Given the description of an element on the screen output the (x, y) to click on. 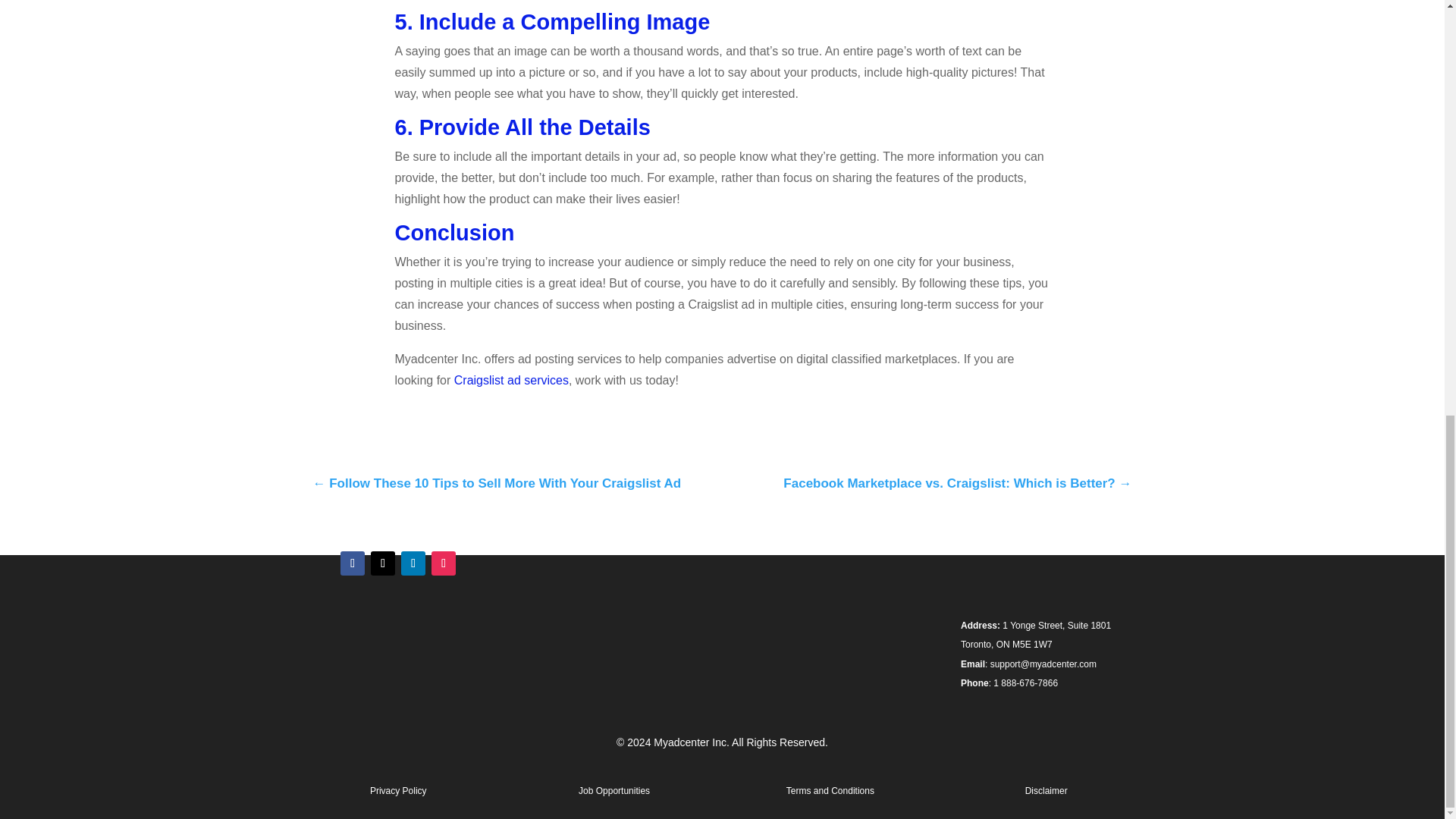
Privacy Policy (397, 790)
Follow on Facebook (352, 563)
Job Opportunities (613, 790)
Craigslist ad services (511, 379)
Follow on Instagram (442, 563)
Follow on LinkedIn (413, 563)
Disclaimer (1046, 790)
Terms and Conditions (830, 790)
Follow on X (382, 563)
